Given the description of an element on the screen output the (x, y) to click on. 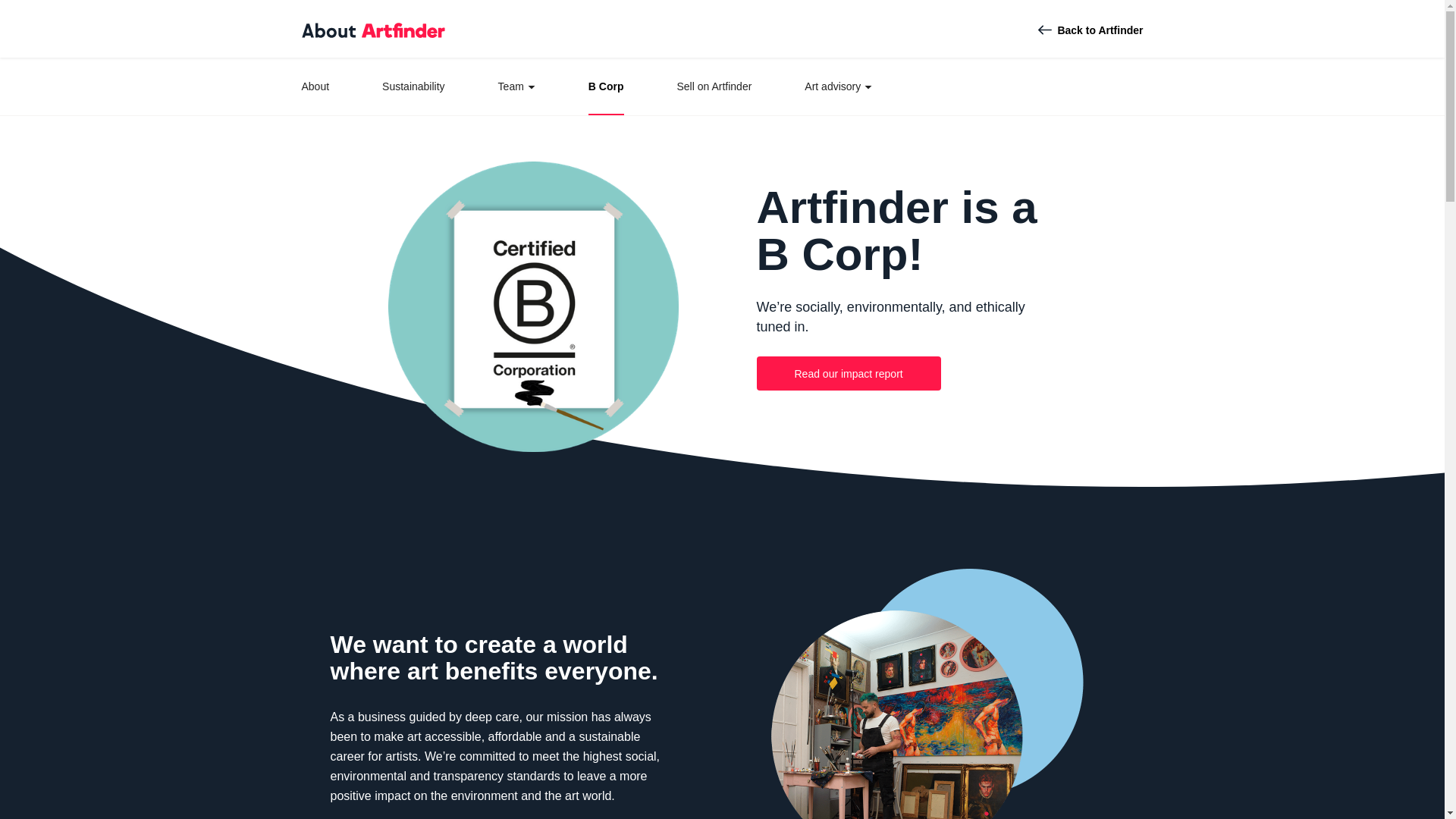
About (315, 85)
B Corp (606, 85)
Sustainability (413, 85)
Sell on Artfinder (714, 85)
Read our impact report (848, 373)
Back to Artfinder (1089, 29)
